Given the description of an element on the screen output the (x, y) to click on. 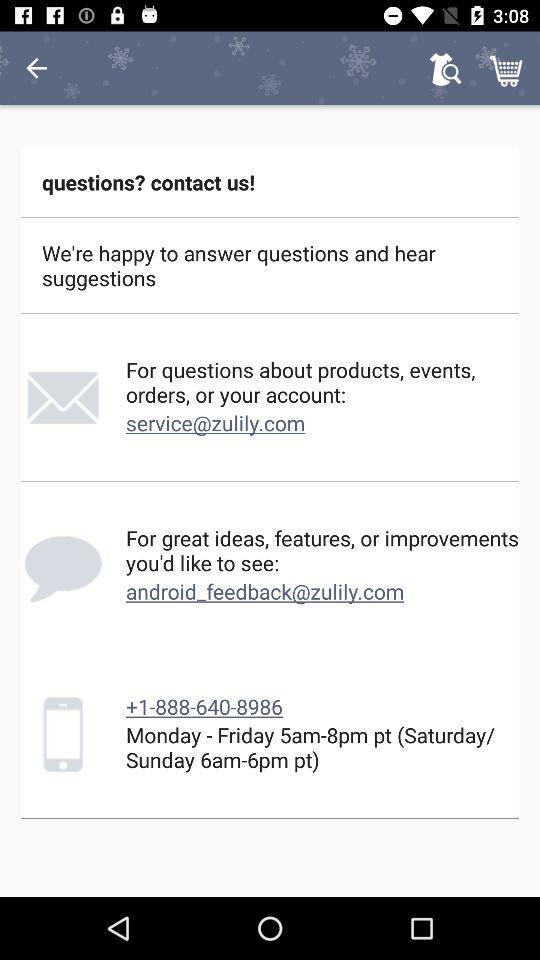
tap the android_feedback@zulily.com (265, 591)
